Given the description of an element on the screen output the (x, y) to click on. 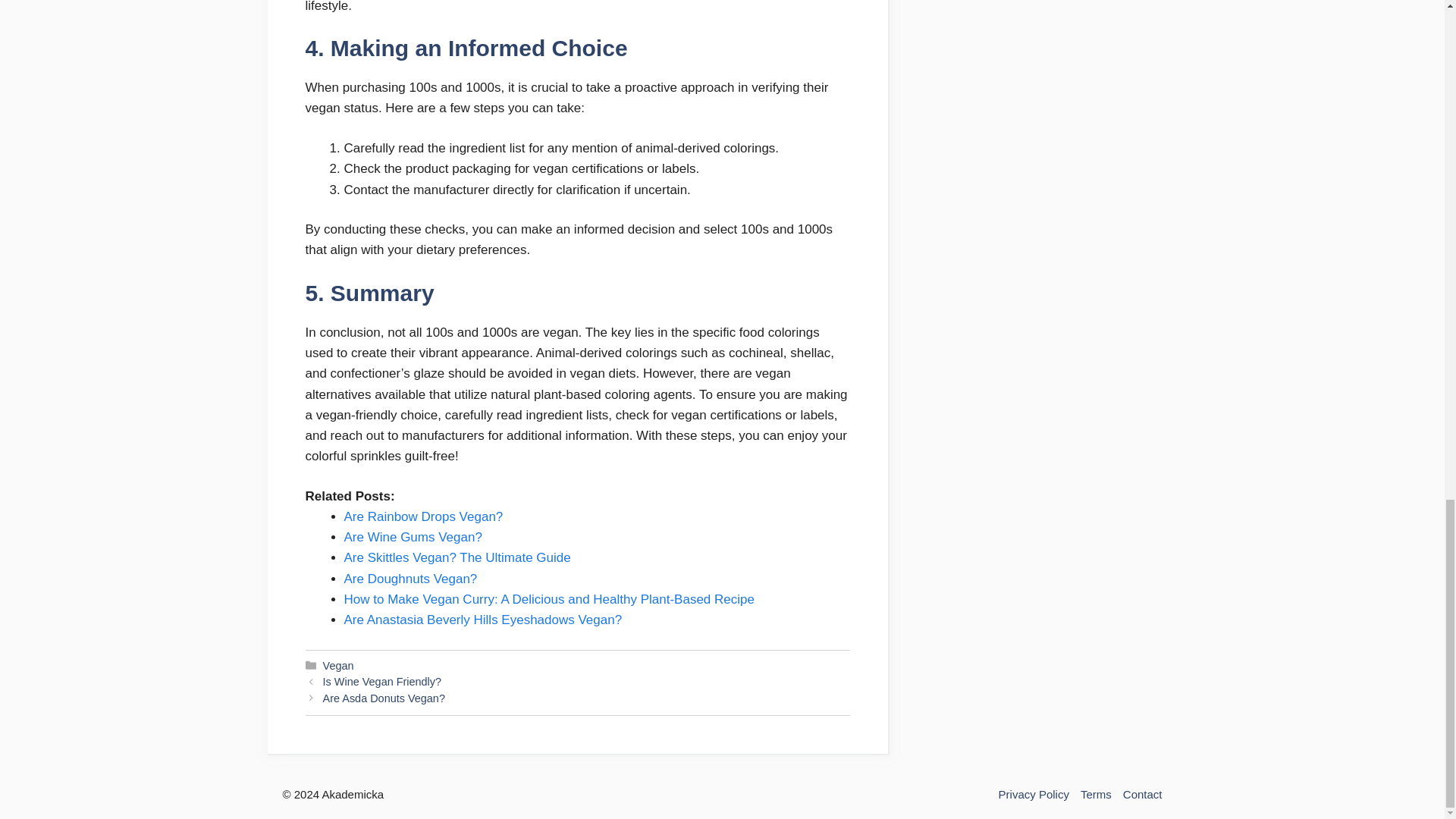
Is Wine Vegan Friendly? (382, 681)
Are Skittles Vegan? The Ultimate Guide (456, 557)
Are Asda Donuts Vegan? (384, 698)
Are Wine Gums Vegan? (412, 536)
Are Anastasia Beverly Hills Eyeshadows Vegan? (483, 619)
Vegan (338, 665)
Are Rainbow Drops Vegan? (423, 516)
Are Doughnuts Vegan? (410, 578)
